Given the description of an element on the screen output the (x, y) to click on. 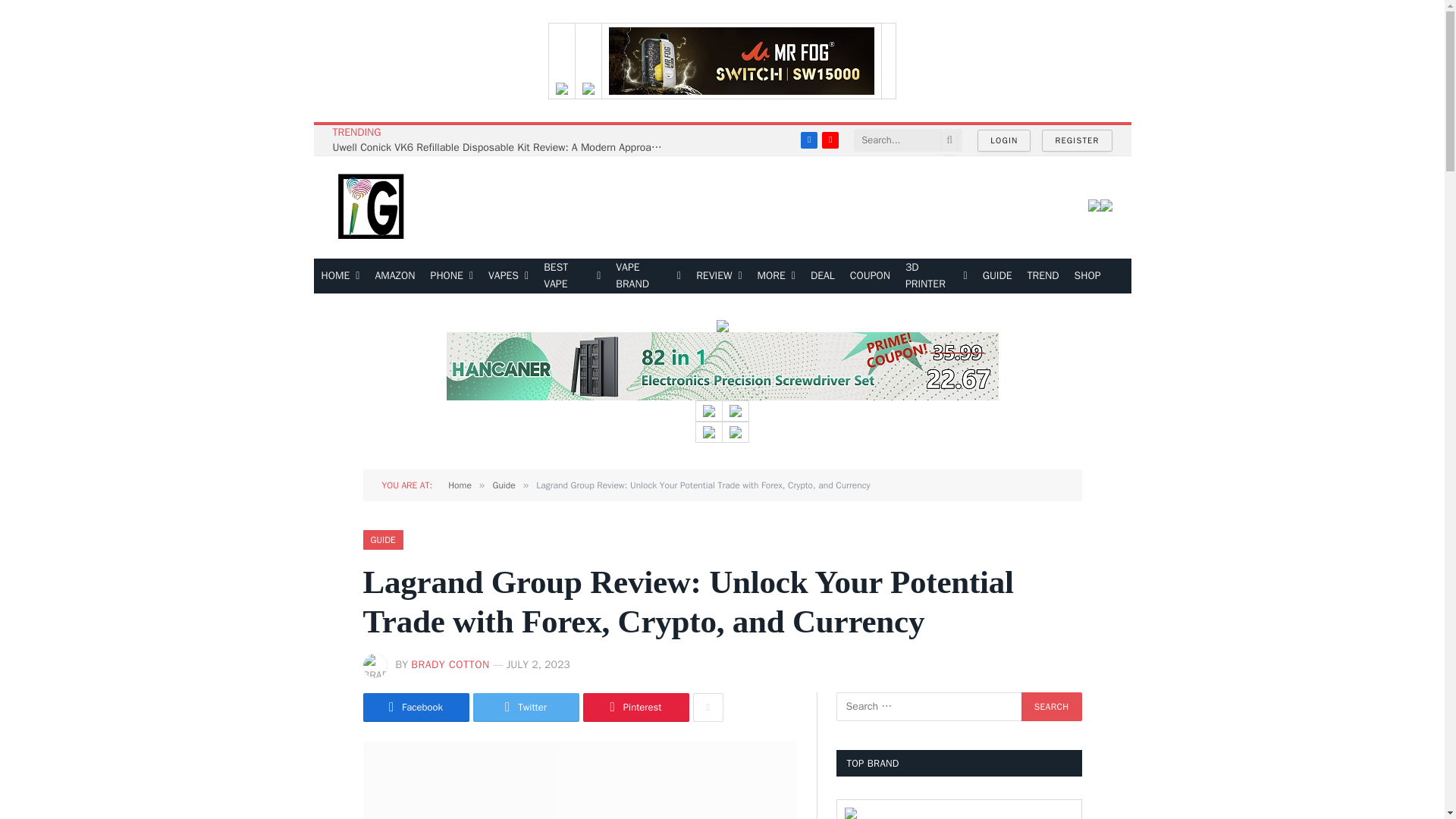
Posts by Brady Cotton (449, 664)
LOGIN (1003, 139)
Share on Twitter (526, 706)
YouTube (830, 139)
Facebook (808, 139)
Share on Facebook (415, 706)
AMAZON (394, 275)
Share on Pinterest (635, 706)
Search (1051, 706)
REGISTER (1077, 139)
HOME (341, 275)
PHONE (451, 275)
Search (1051, 706)
Show More Social Sharing (708, 706)
